Given the description of an element on the screen output the (x, y) to click on. 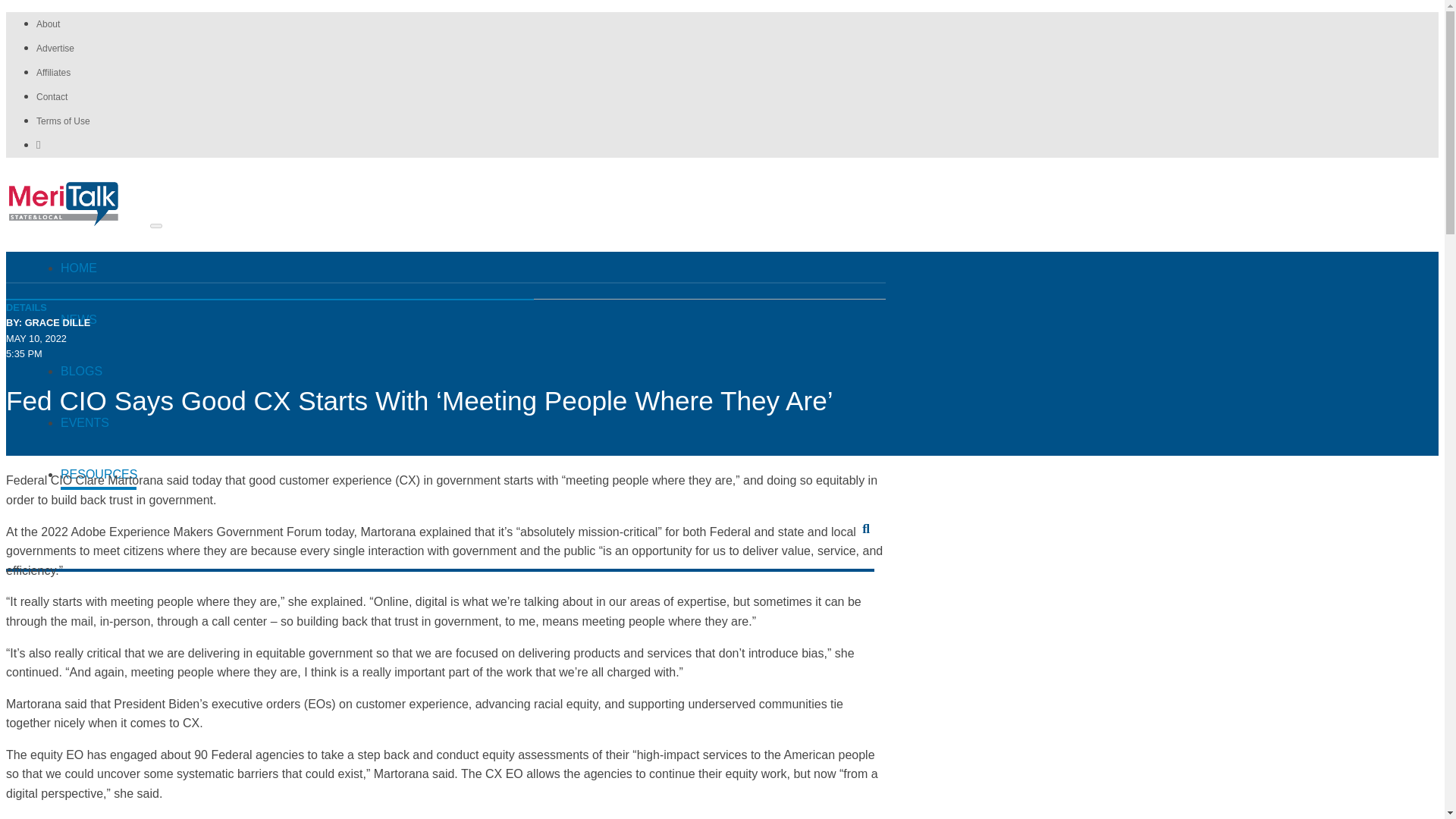
BLOGS (98, 372)
Advertise (55, 48)
Blogs (98, 372)
EVENTS (98, 424)
NEWS (98, 320)
Resources (98, 475)
RESOURCES (98, 475)
Terms of Use (63, 121)
Events (98, 424)
About (47, 23)
Contact (51, 96)
HOME (98, 269)
Affiliates (52, 72)
News (98, 320)
Home (98, 269)
